Given the description of an element on the screen output the (x, y) to click on. 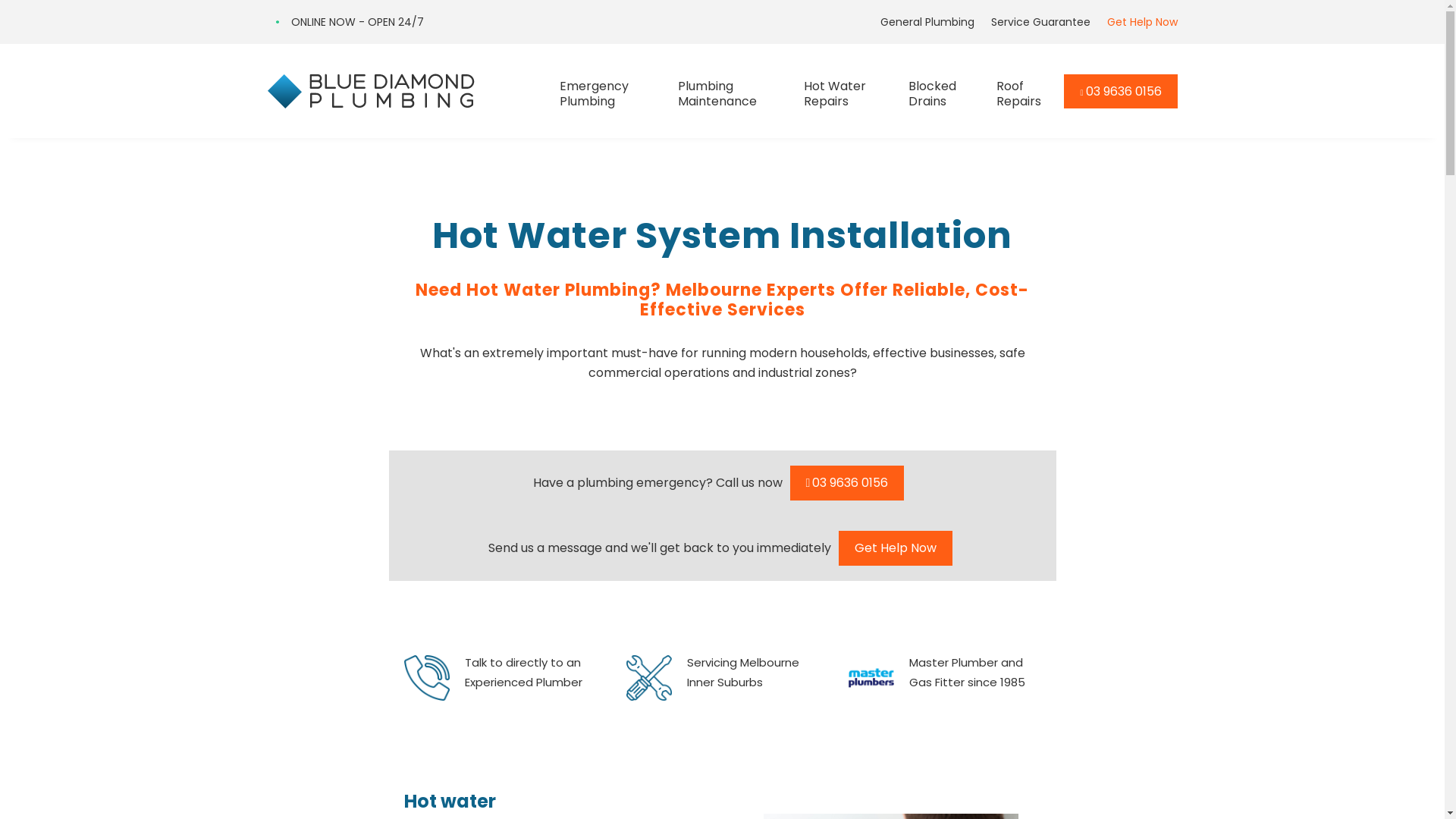
Roof Repairs Element type: text (1025, 90)
Emergency Plumbing Element type: text (609, 90)
03 9636 0156 Element type: text (847, 482)
Get Help Now Element type: text (1137, 21)
Get Help Now Element type: text (895, 547)
General Plumbing Element type: text (927, 21)
Blocked Drains Element type: text (943, 90)
03 9636 0156 Element type: text (1119, 91)
Plumbing Maintenance Element type: text (731, 90)
Service Guarantee Element type: text (1040, 21)
Hot Water Repairs Element type: text (846, 90)
